Given the description of an element on the screen output the (x, y) to click on. 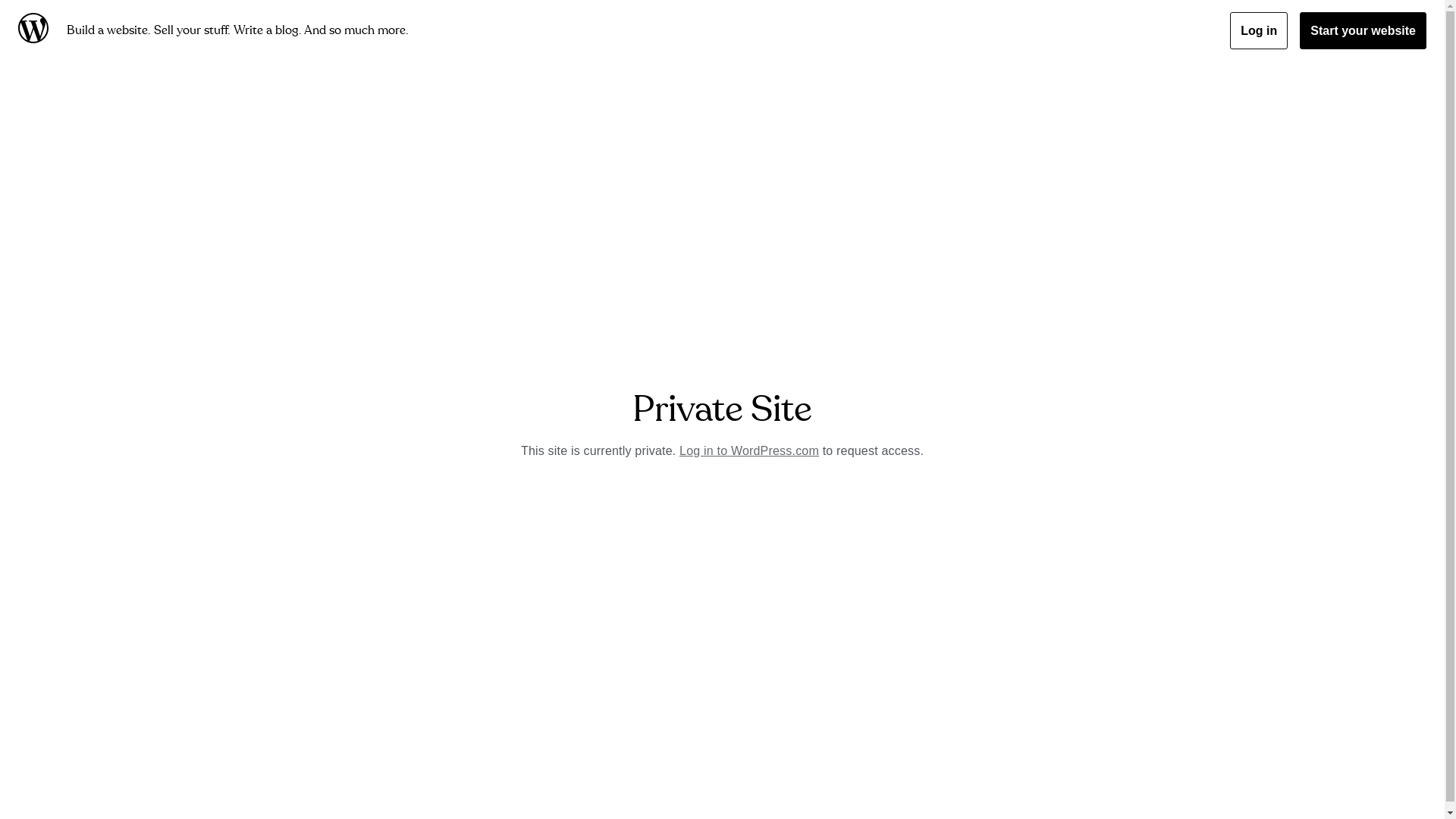
Log in to WordPress.com Element type: text (749, 450)
Start your website Element type: text (1362, 30)
WordPress.com Element type: text (36, 30)
Log in Element type: text (1258, 30)
